Given the description of an element on the screen output the (x, y) to click on. 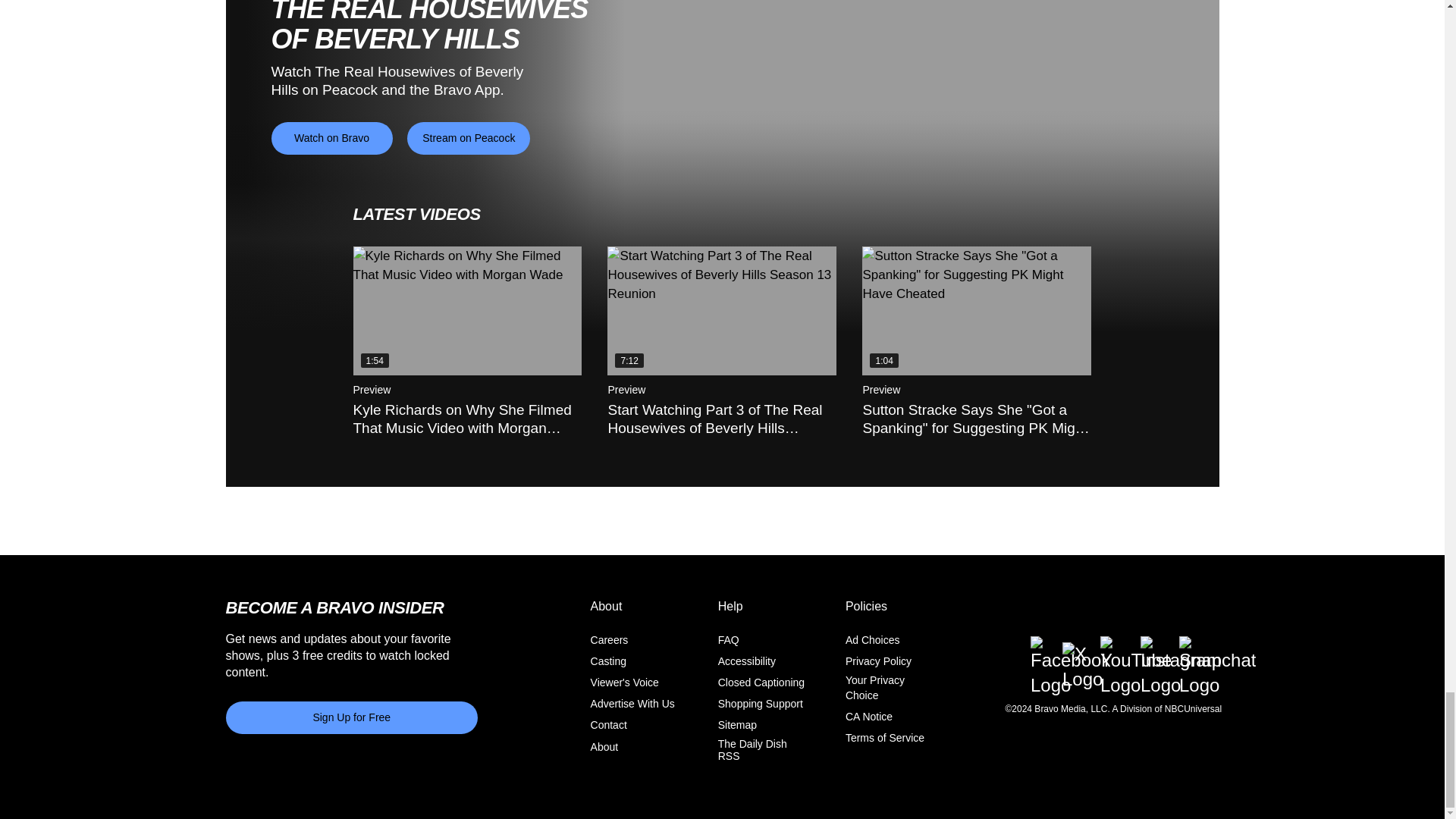
Advertise With Us (633, 703)
